Given the description of an element on the screen output the (x, y) to click on. 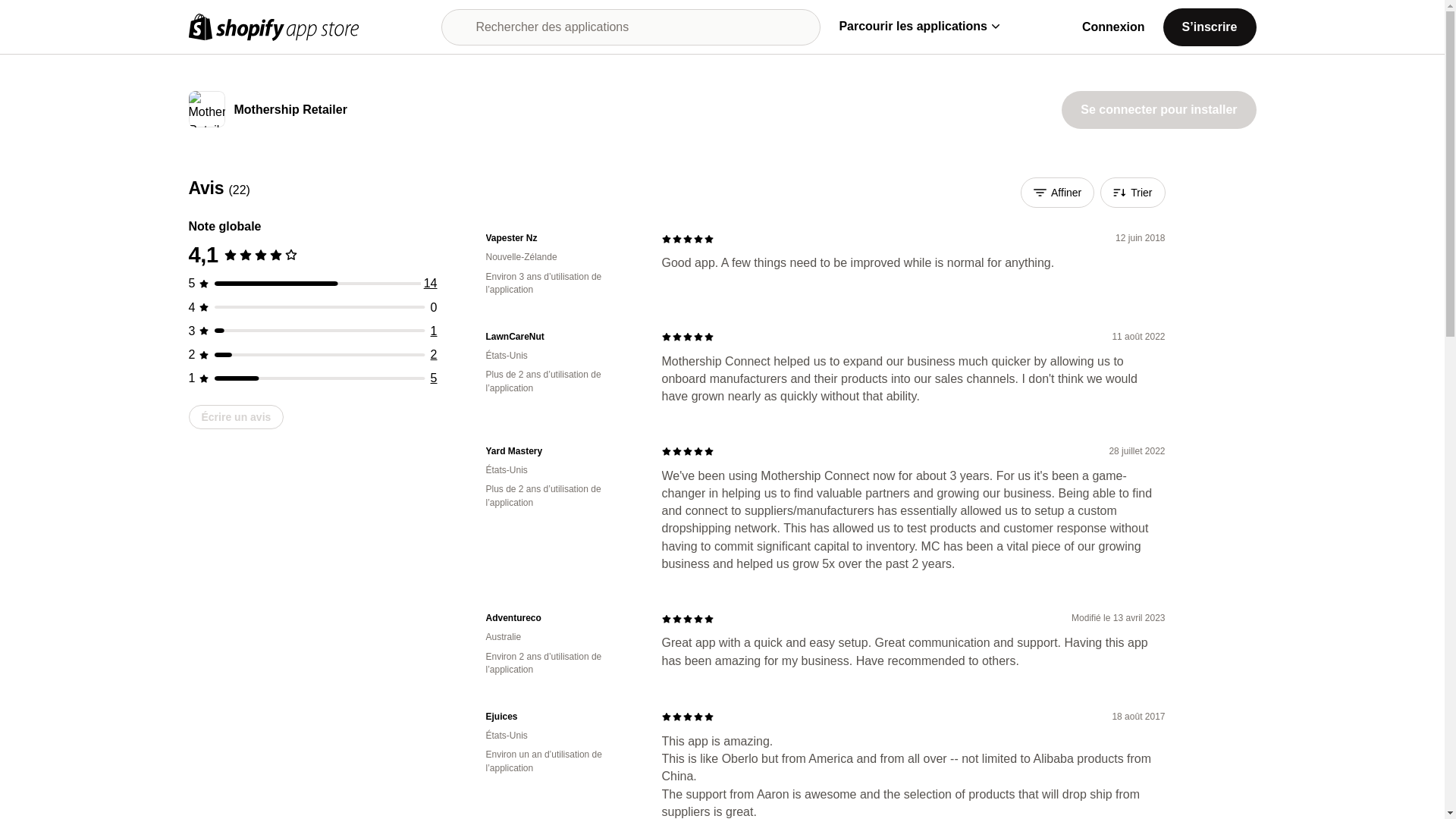
LawnCareNut (560, 336)
Adventureco (560, 617)
Mothership Retailer (289, 110)
Ejuices (560, 716)
Se connecter pour installer (1158, 109)
Parcourir les applications (918, 26)
Connexion (1112, 27)
Affiner (1057, 192)
Vapester Nz (560, 237)
Yard Mastery (560, 451)
14 (430, 282)
